Given the description of an element on the screen output the (x, y) to click on. 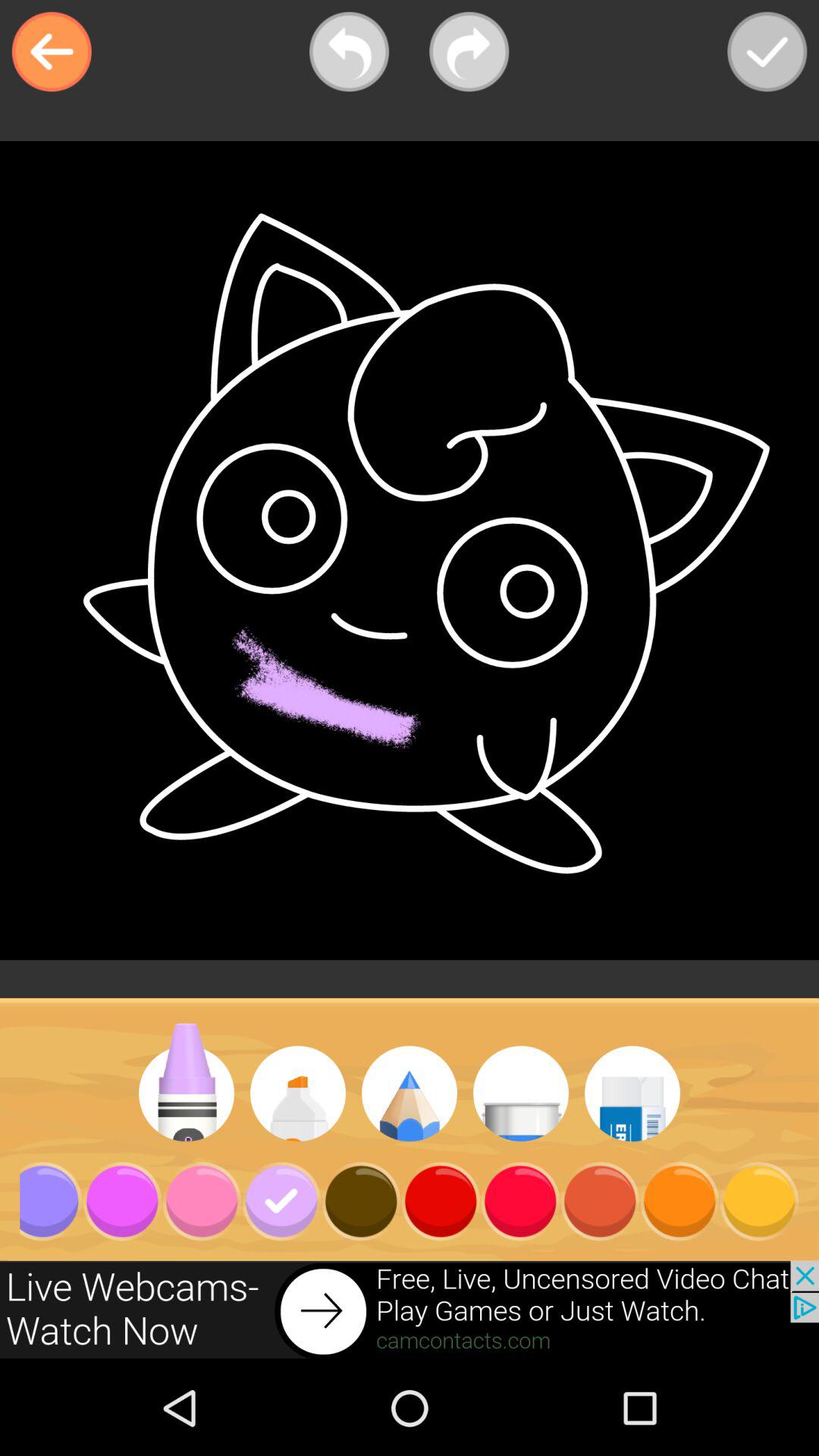
go to previous (349, 51)
